Given the description of an element on the screen output the (x, y) to click on. 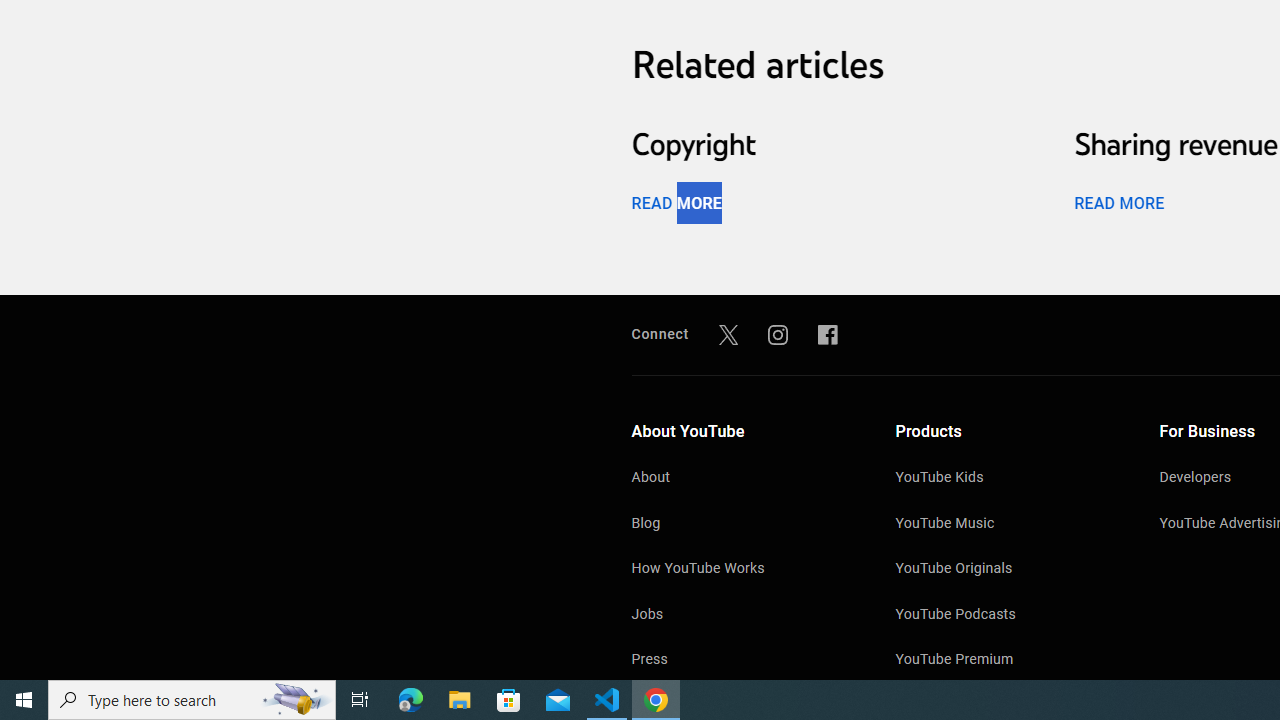
Jobs (743, 616)
Instagram (778, 334)
Blog (743, 524)
READ MORE (1118, 202)
YouTube Kids (1007, 479)
How YouTube Works (743, 570)
About (743, 479)
Press (743, 660)
YouTube Podcasts (1007, 616)
Twitter (728, 334)
YouTube Music (1007, 524)
Facebook (828, 334)
YouTube Originals (1007, 570)
